Given the description of an element on the screen output the (x, y) to click on. 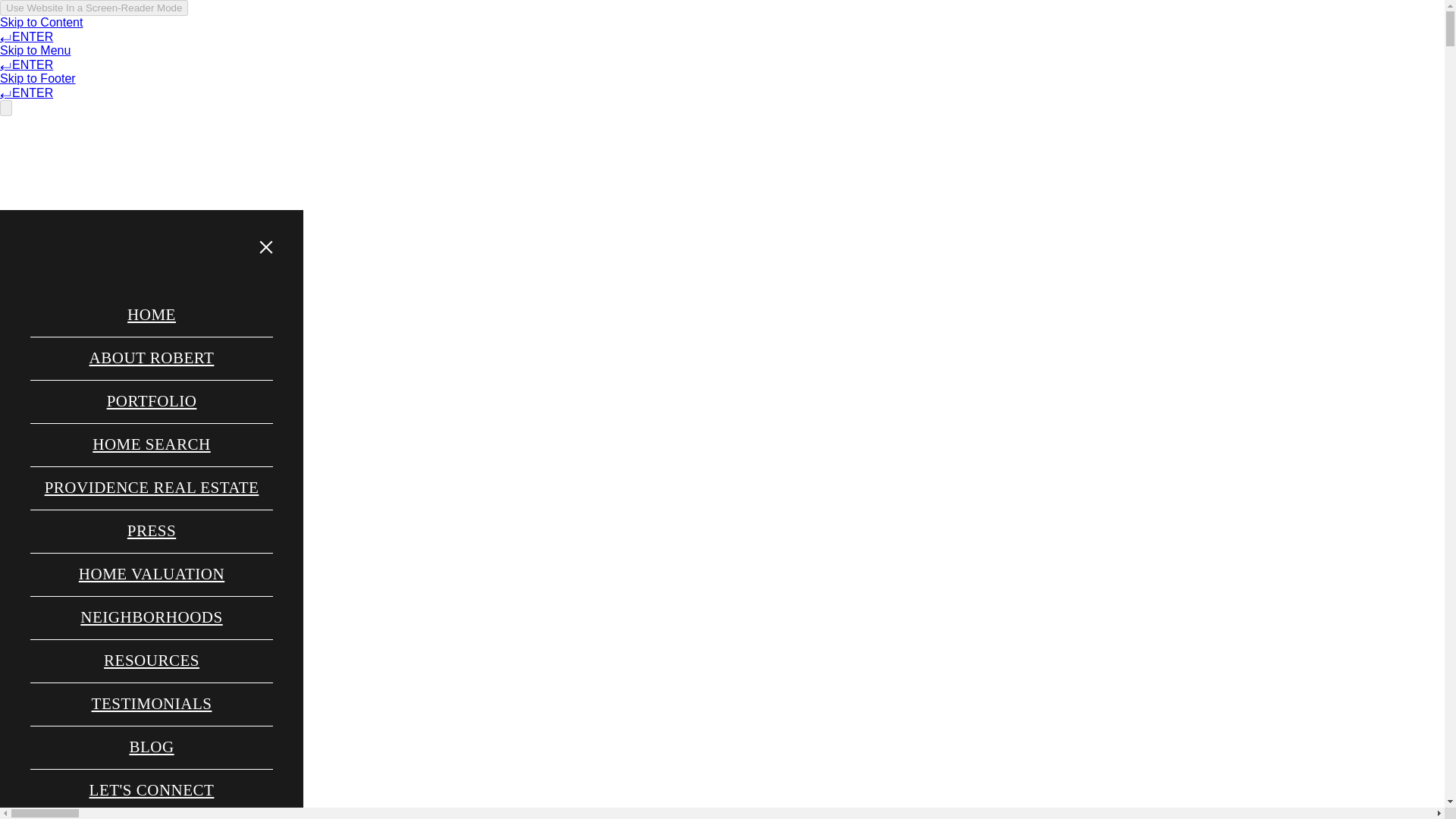
PRESS (677, 177)
HOME VALUATION (151, 574)
PROVIDENCE REAL ESTATE (151, 488)
PRESS (151, 531)
ABOUT ROBERT (151, 358)
LET'S CONNECT (869, 177)
PORTFOLIO (603, 177)
NEIGHBORHOODS (151, 617)
RESOURCES (151, 660)
HOME SEARCH (150, 444)
PORTFOLIO (152, 402)
HOME (151, 315)
HOME SEARCH (759, 177)
